Given the description of an element on the screen output the (x, y) to click on. 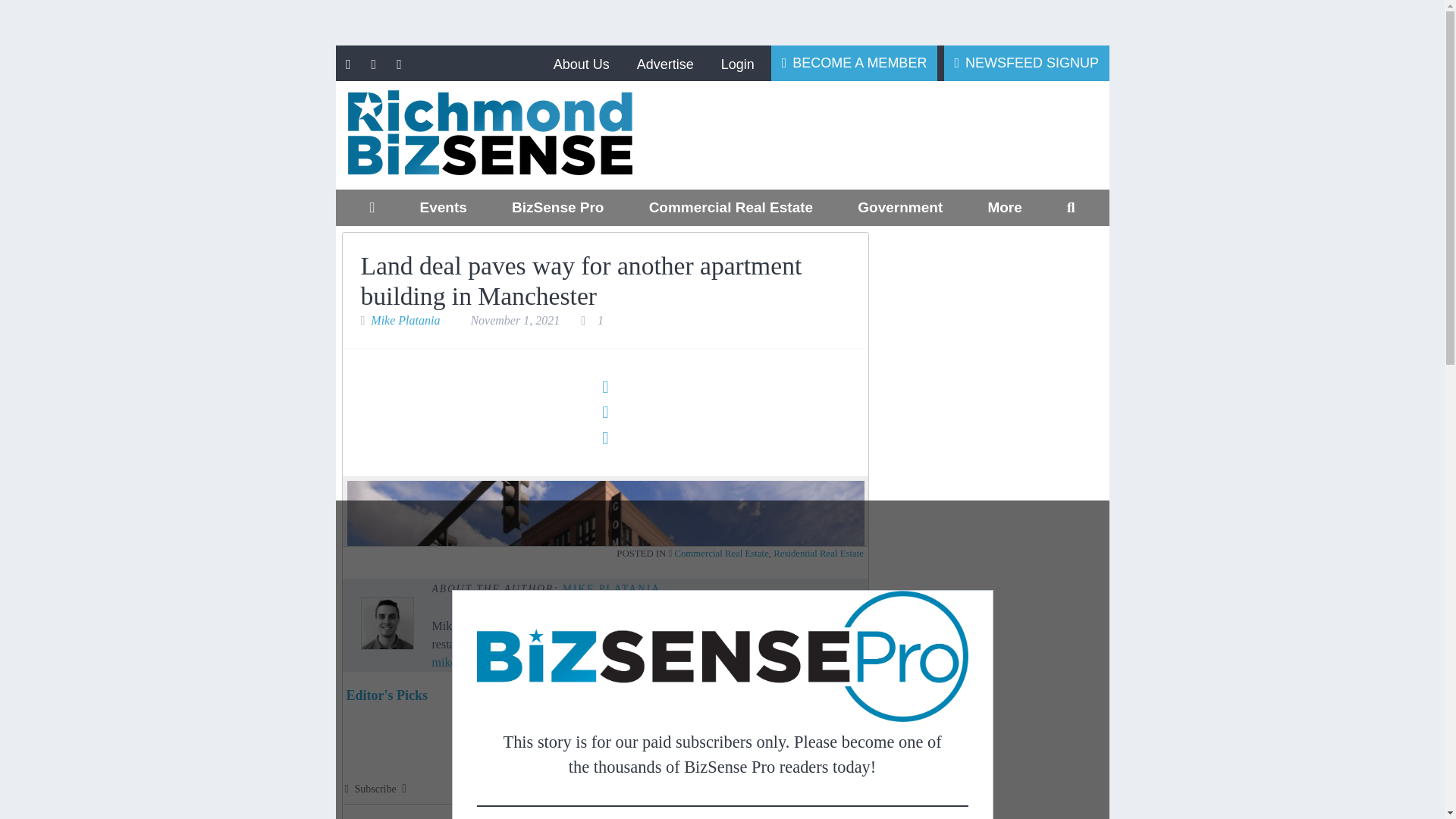
Login (737, 63)
NEWSFEED SIGNUP (1026, 62)
BECOME A MEMBER (854, 62)
Government (900, 207)
About Us (581, 63)
Posts by Mike Platania (611, 588)
BizSense Pro (557, 207)
More (1004, 207)
Events (443, 207)
